Given the description of an element on the screen output the (x, y) to click on. 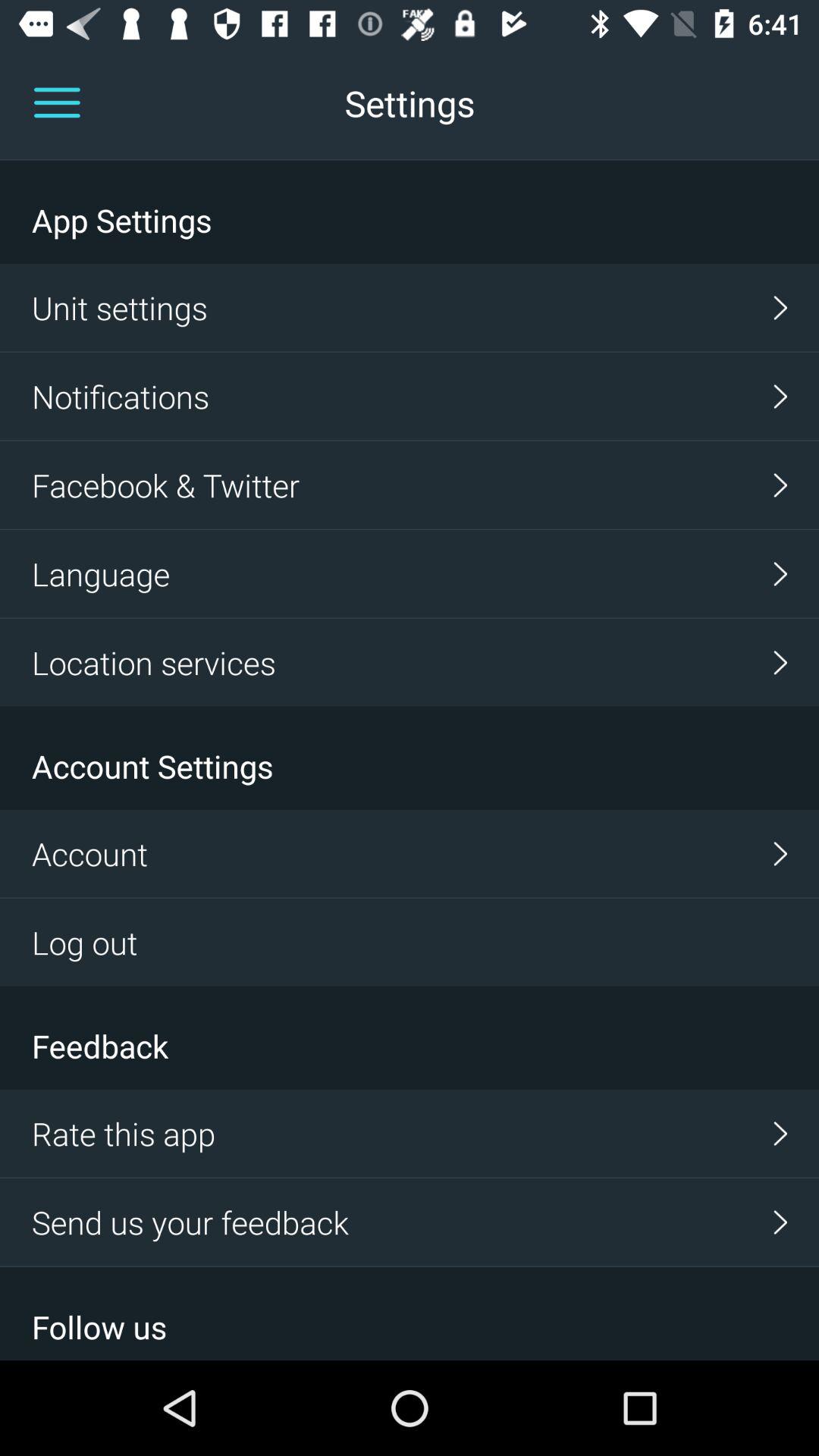
toggle option menu (57, 103)
